Given the description of an element on the screen output the (x, y) to click on. 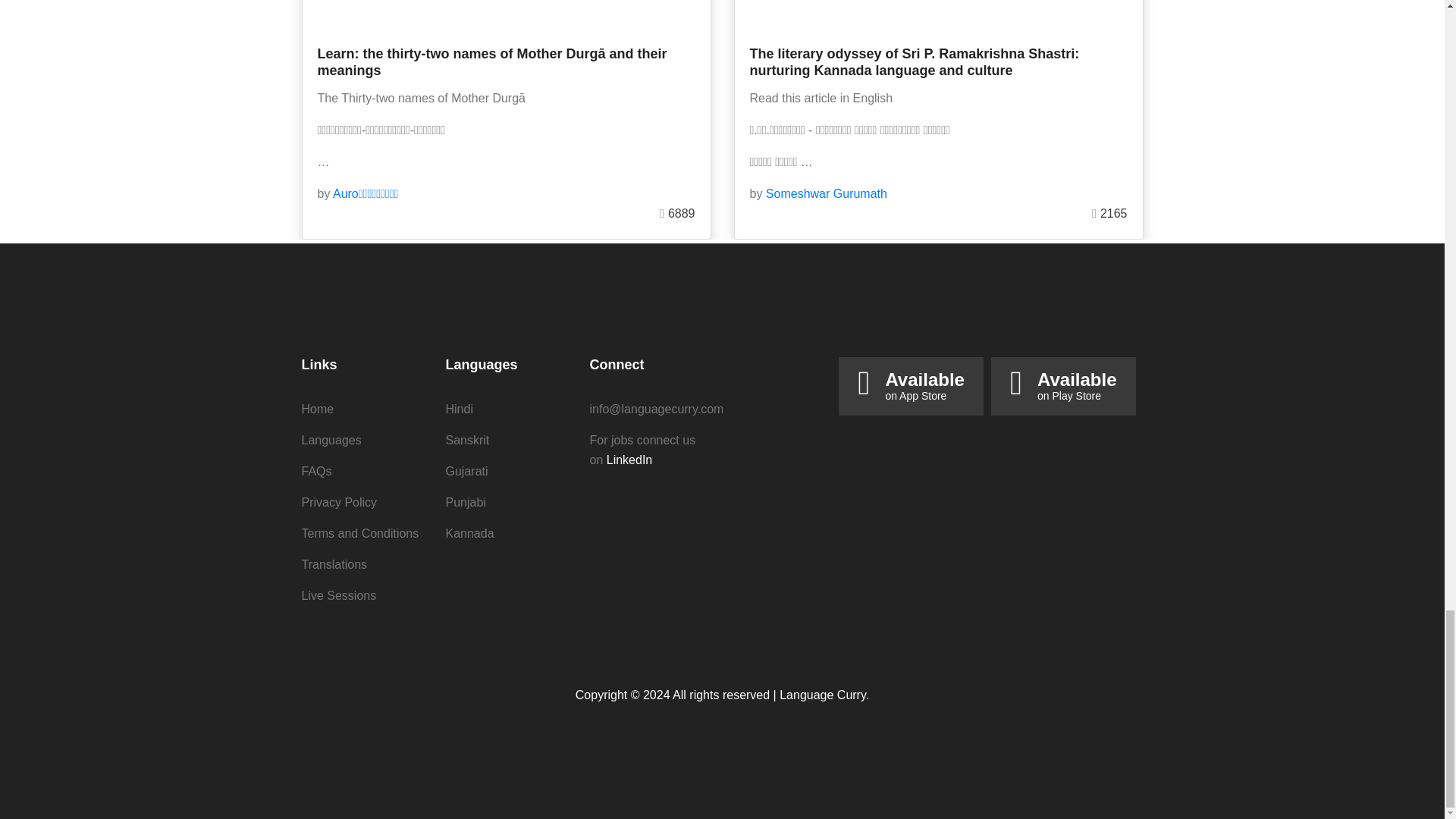
Languages (1076, 387)
Hindi (331, 440)
Privacy Policy (459, 408)
Punjabi (339, 502)
FAQs (465, 502)
LinkedIn (316, 471)
Kannada (629, 459)
Home (470, 533)
